Given the description of an element on the screen output the (x, y) to click on. 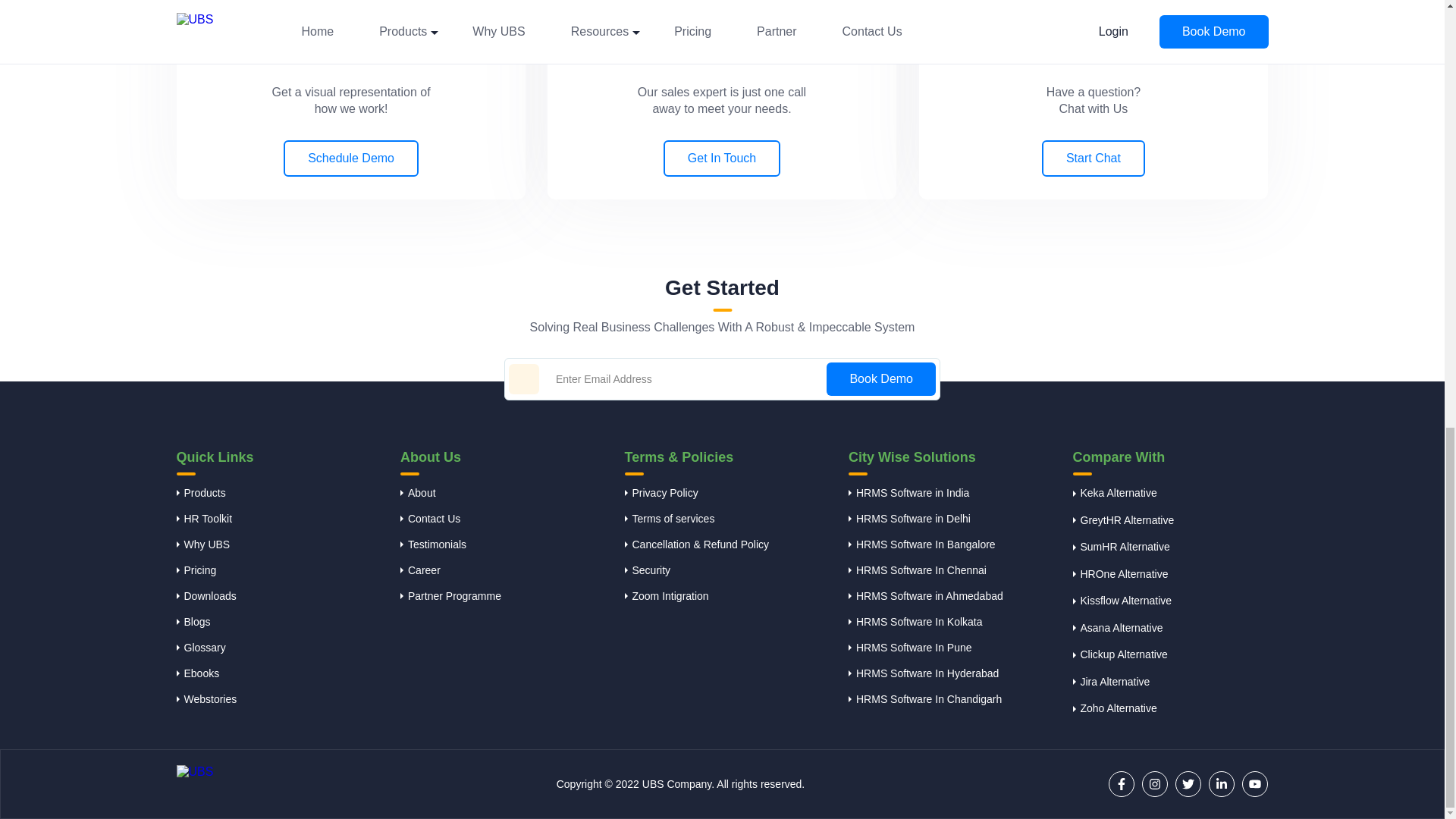
Start Chat (1093, 34)
Get in Touch (722, 30)
Book Demo (881, 378)
Watch a Demo (350, 28)
UBS (217, 783)
